Given the description of an element on the screen output the (x, y) to click on. 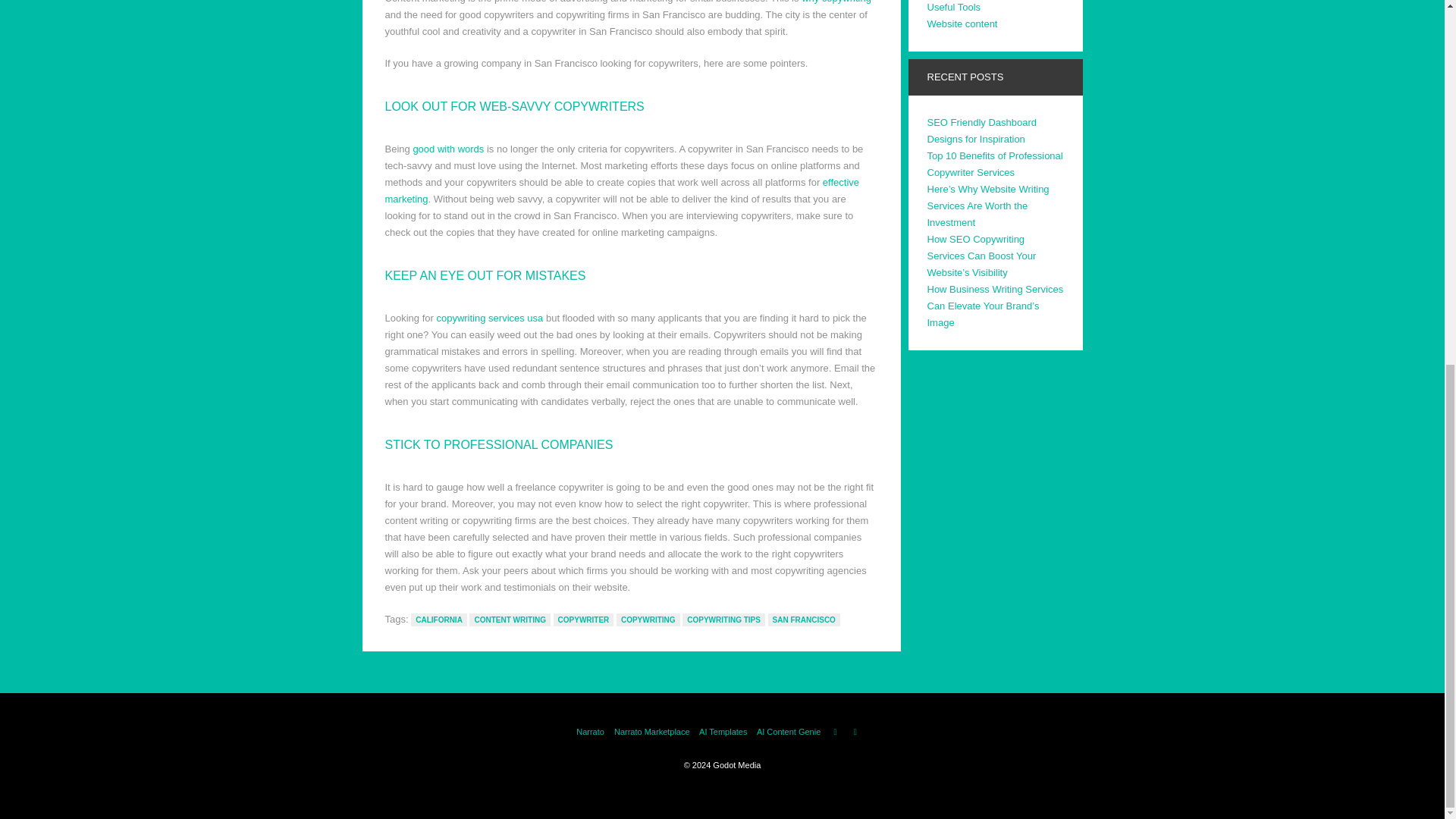
why copywriting (836, 2)
SEO Friendly Dashboard Designs for Inspiration (981, 130)
Narrato (590, 731)
AI Content Genie (789, 731)
COPYWRITING (647, 619)
COPYWRITING TIPS (723, 619)
SAN FRANCISCO (804, 619)
AI Templates (722, 731)
Narrato Marketplace (652, 731)
CONTENT WRITING (509, 619)
